Given the description of an element on the screen output the (x, y) to click on. 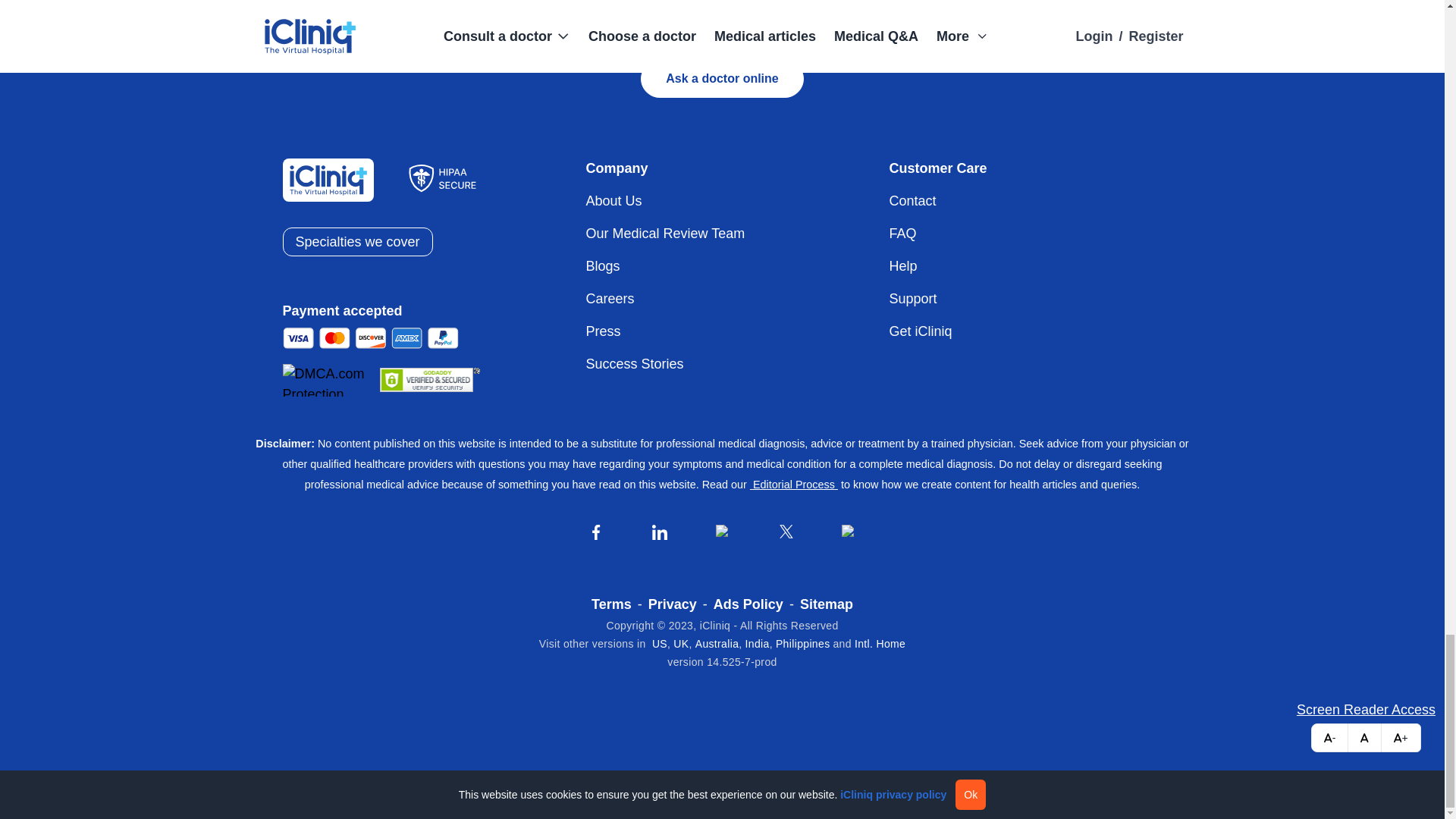
instagram (723, 531)
iCliniq Home (879, 644)
DMCA.com Protection Status (328, 379)
iCliniq Philippines (802, 644)
facebook (596, 531)
iCliniq UK (680, 644)
twitter (785, 531)
iCliniq Australia (717, 644)
linkedin (659, 531)
godaddy ssl seal (428, 379)
